Given the description of an element on the screen output the (x, y) to click on. 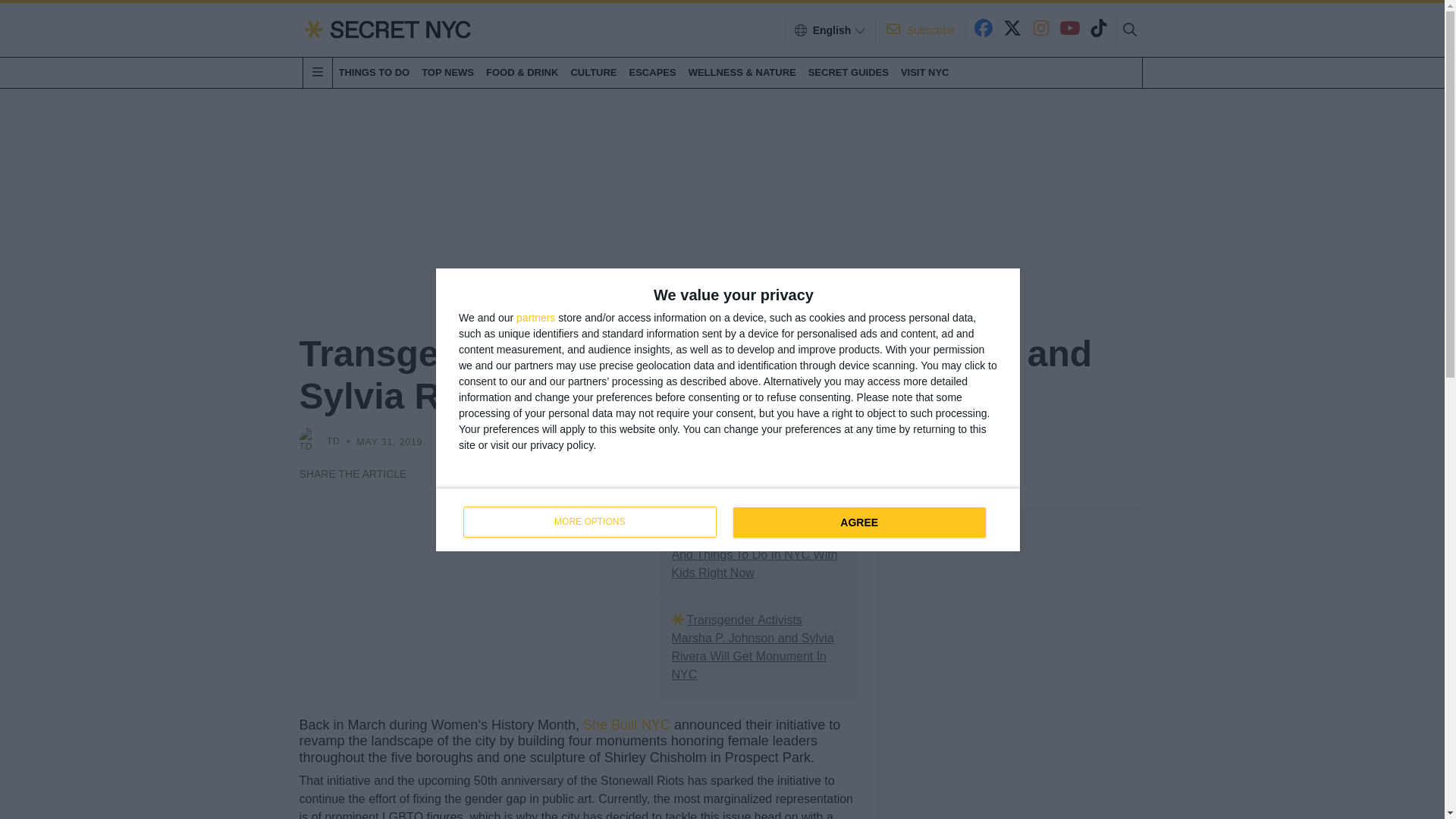
ESCAPES (652, 72)
THINGS TO DO (373, 72)
VISIT NYC (925, 72)
MORE OPTIONS (589, 521)
She Built NYC (626, 724)
SECRET GUIDES (848, 72)
TOP NEWS (448, 72)
TD (727, 518)
partners (333, 441)
CULTURE (535, 317)
AGREE (592, 72)
English (858, 521)
